Given the description of an element on the screen output the (x, y) to click on. 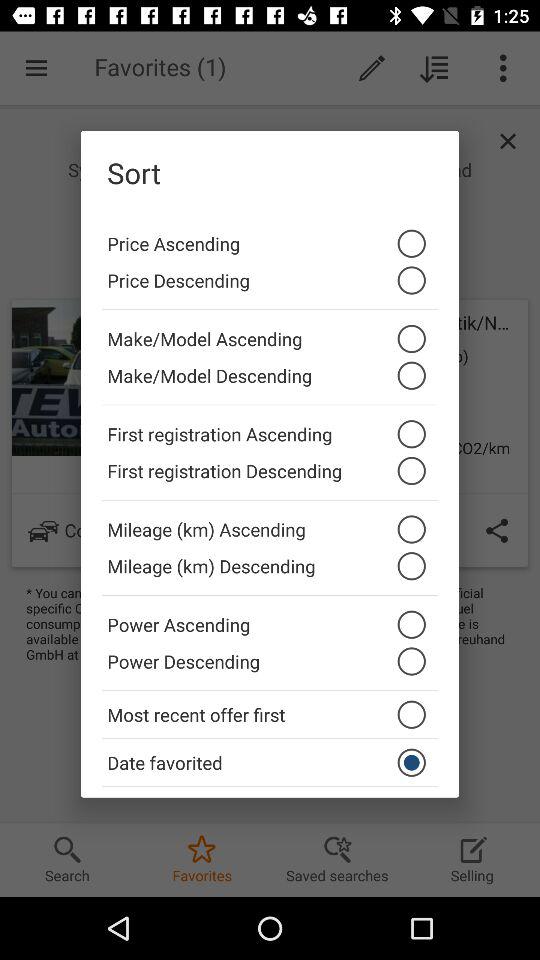
tap item below power ascending (269, 666)
